Given the description of an element on the screen output the (x, y) to click on. 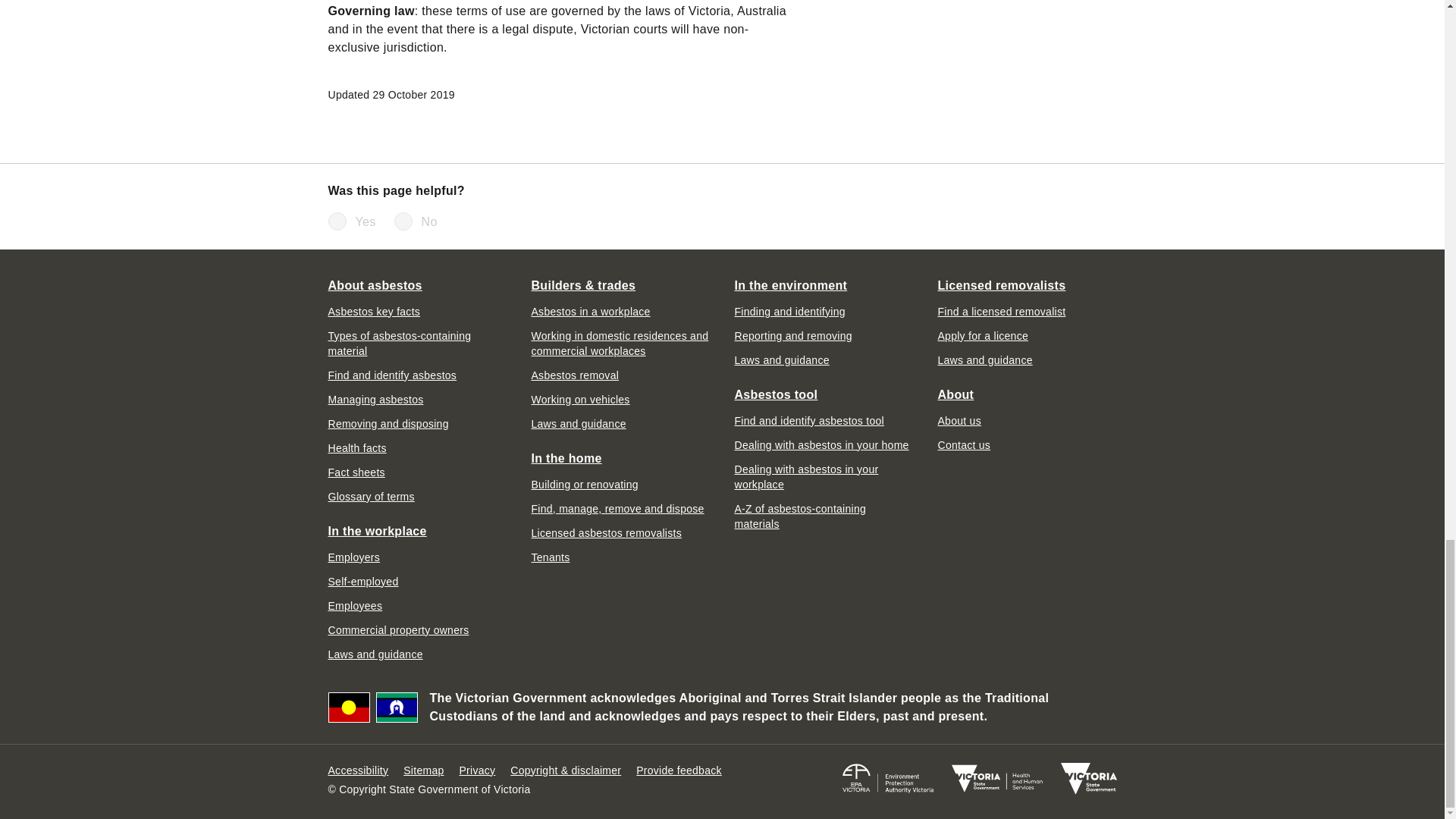
Health facts (356, 447)
Find and identify asbestos (392, 374)
Employers (353, 556)
Glossary of terms (370, 495)
Removing and disposing (387, 422)
Working in domestic residences and commercial workplaces (620, 342)
Asbestos in a workplace (590, 310)
Find, manage, remove and dispose (617, 507)
In the workplace (376, 530)
Employees (354, 604)
Self-employed (362, 580)
Laws and guidance (374, 653)
In the home (566, 458)
Managing asbestos (375, 398)
Working on vehicles (579, 398)
